Given the description of an element on the screen output the (x, y) to click on. 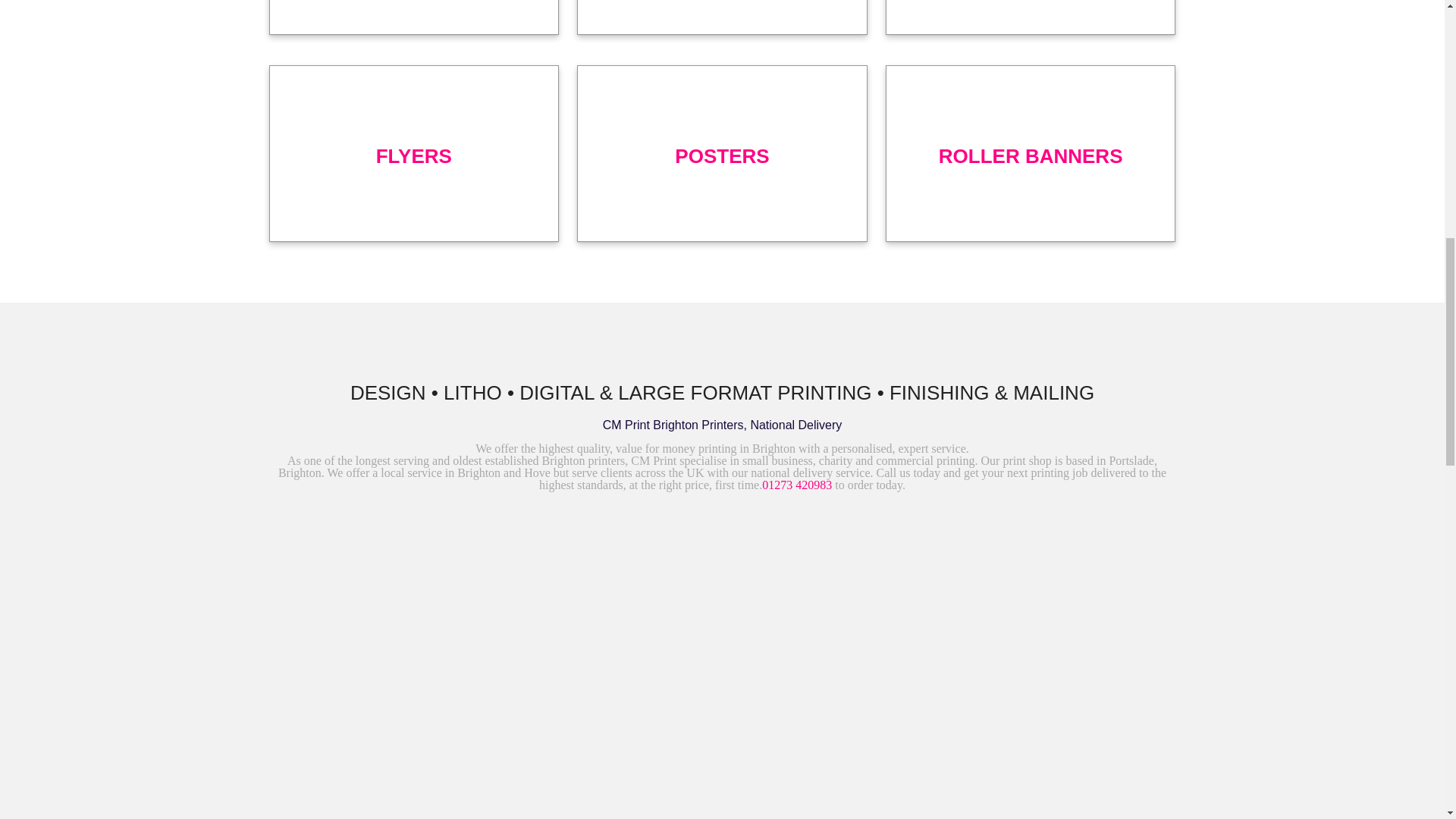
01273 420983 (796, 484)
